Given the description of an element on the screen output the (x, y) to click on. 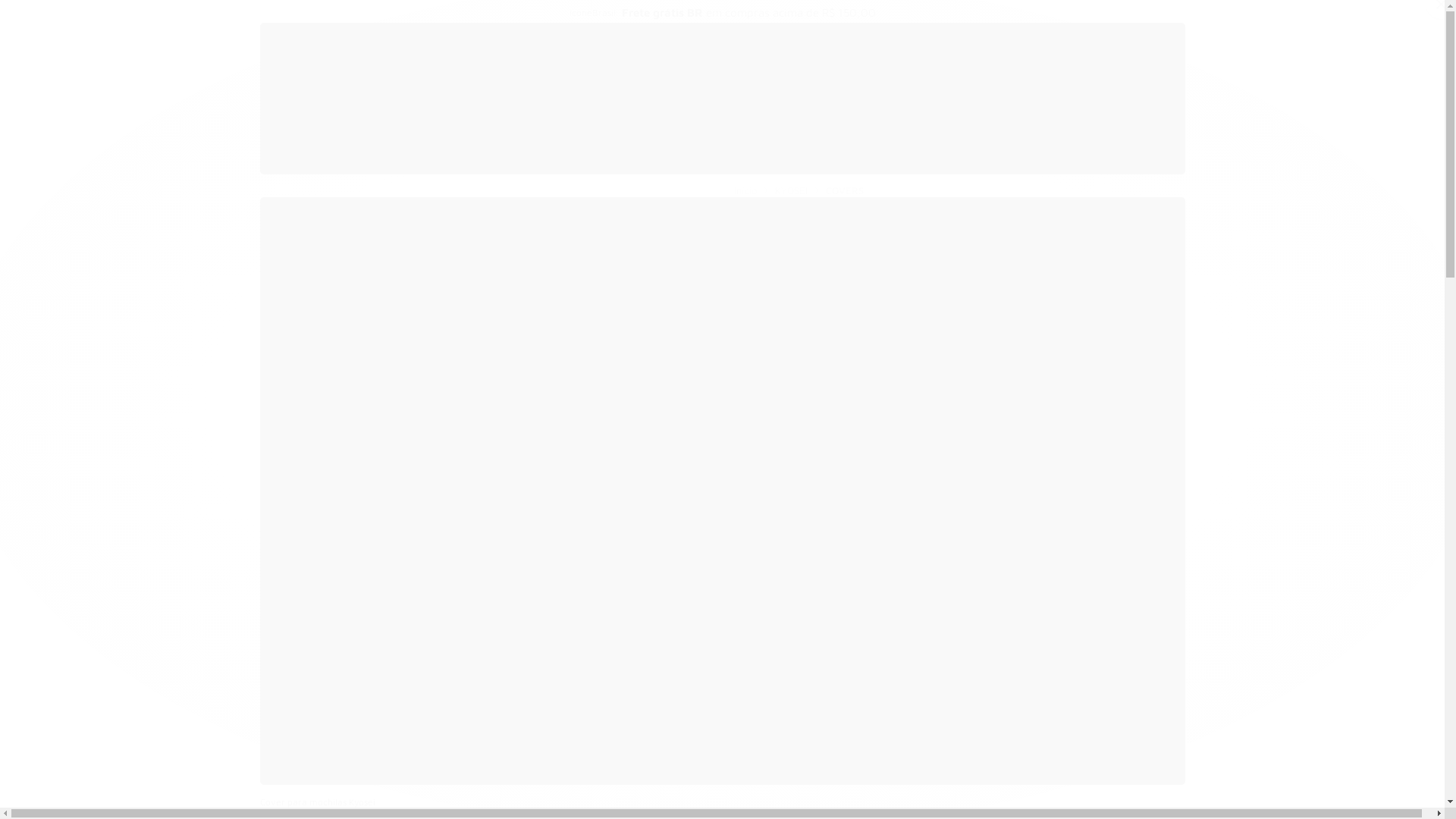
KYOSEI Element type: text (760, 159)
COVERS Element type: text (844, 190)
OK Element type: text (889, 531)
2F Pocket Cores - Cover para mochilas Kyosei - Imagem 2 Element type: hover (417, 754)
Todas as categorias Element type: text (449, 159)
2F Pocket Cores - Cover para mochilas Kyosei - Imagem 5 Element type: hover (620, 754)
2F Pocket Cores - Cover para mochilas Kyosei - Imagem 1 Element type: hover (350, 754)
2F Pocket Cores - Cover para mochilas Kyosei - Imagem 3 Element type: hover (485, 754)
BOLSAS Element type: text (681, 159)
Cadastrar Element type: text (1150, 86)
Ocultar Element type: text (1038, 159)
2F Pocket Cores - Cover para mochilas Kyosei - Imagem 4 Element type: hover (552, 754)
Entrar Element type: text (1091, 86)
Comprar Element type: text (1091, 373)
KYOSEI Element type: text (790, 190)
SOBRE A 2C2 Element type: text (585, 159)
